Given the description of an element on the screen output the (x, y) to click on. 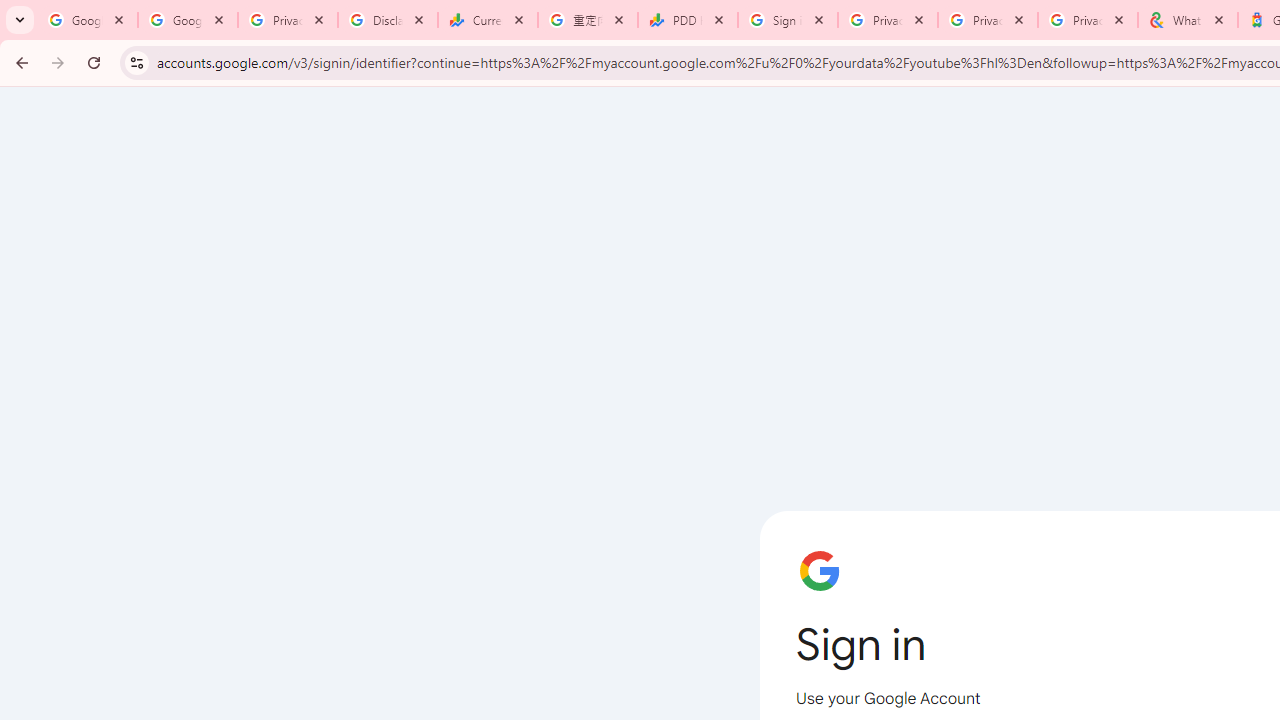
Google Workspace Admin Community (87, 20)
